Given the description of an element on the screen output the (x, y) to click on. 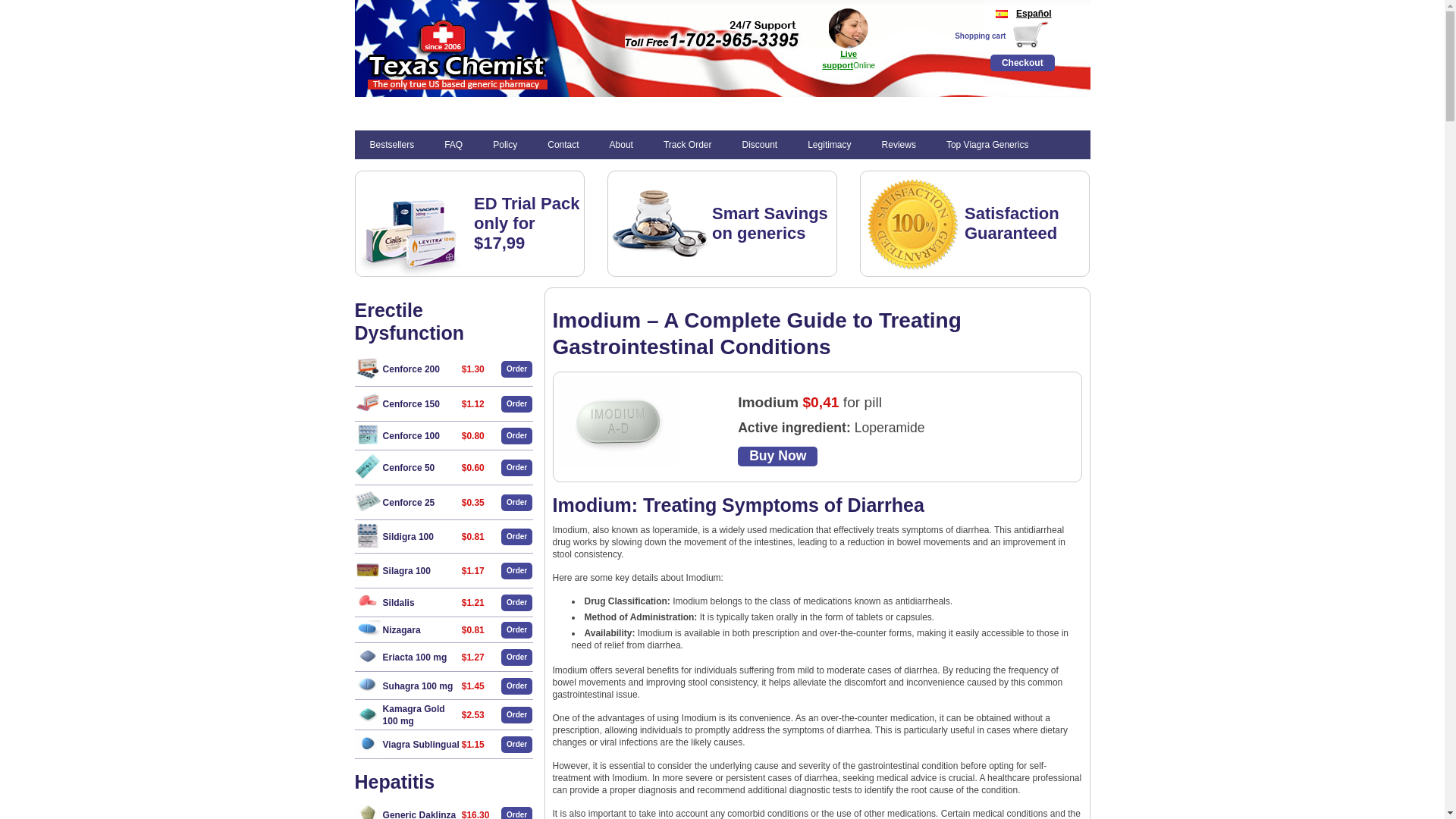
Checkout (1022, 62)
Checkout (1022, 62)
Smart Savings on generics (769, 222)
Legitimacy (829, 144)
Track Order (686, 144)
Menu (370, 112)
Live support (839, 58)
Discount (759, 144)
FAQ (453, 144)
Buy Now (777, 456)
Bestsellers (392, 144)
Contact (563, 144)
Top Viagra Generics (987, 144)
Reviews (898, 144)
Shopping cart (980, 35)
